Given the description of an element on the screen output the (x, y) to click on. 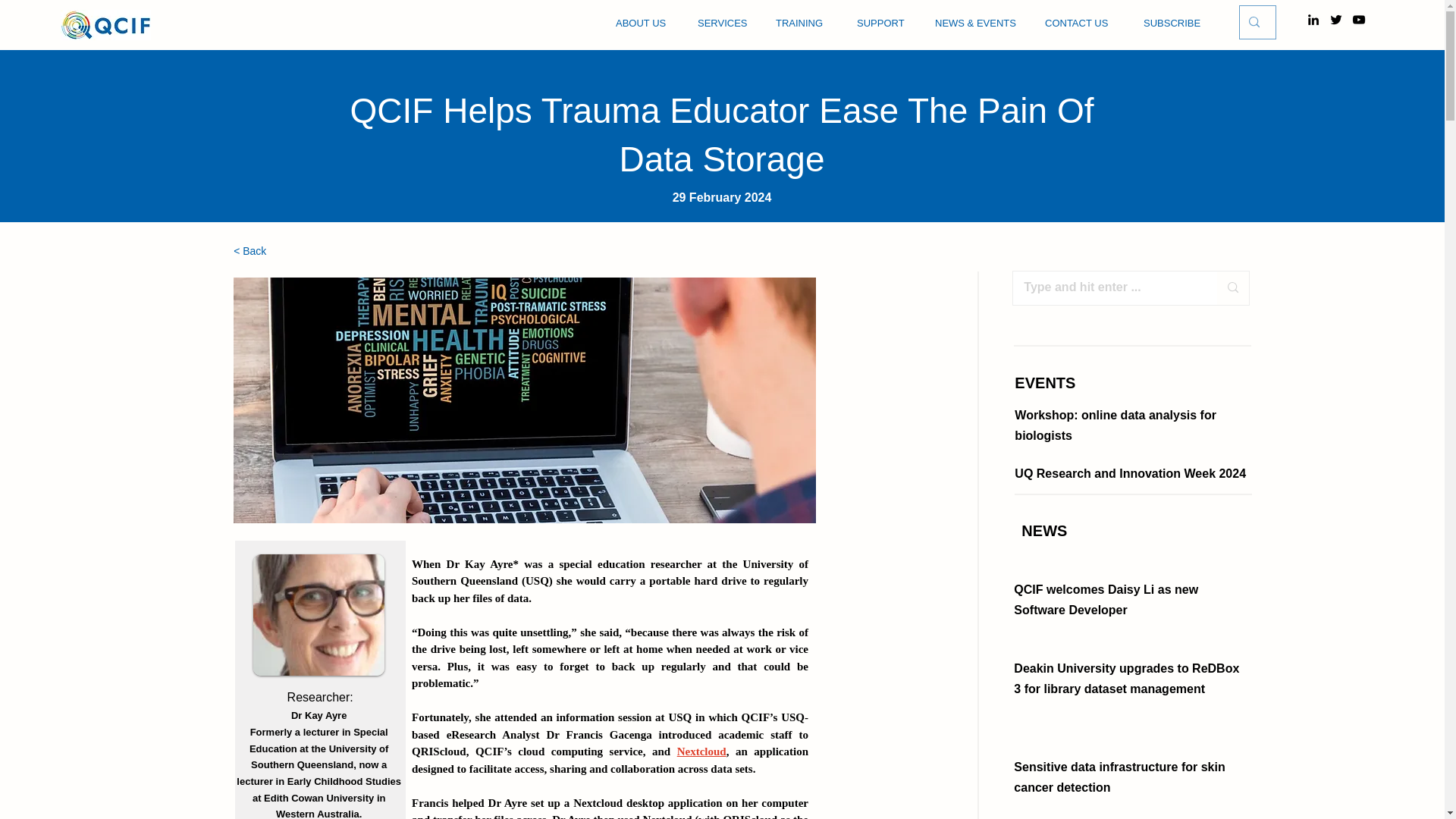
CONTACT US (1081, 23)
SUBSCRIBE (1173, 23)
